Given the description of an element on the screen output the (x, y) to click on. 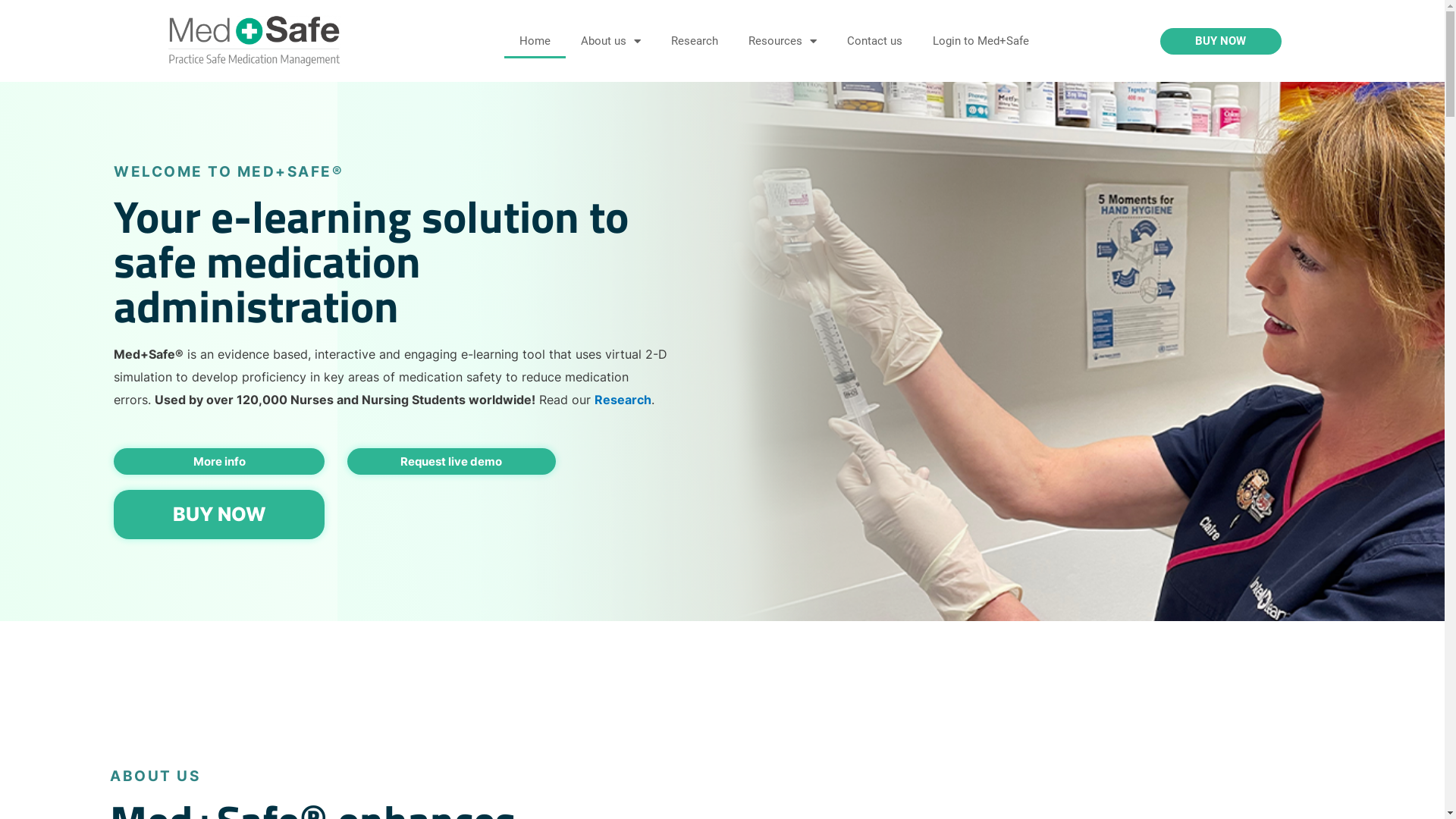
Login to Med+Safe Element type: text (980, 40)
About us Element type: text (610, 40)
Research Element type: text (622, 399)
Request live demo Element type: text (451, 461)
Contact us Element type: text (874, 40)
Research Element type: text (694, 40)
Home Element type: text (534, 40)
BUY NOW Element type: text (219, 514)
BUY NOW Element type: text (1220, 41)
More info Element type: text (219, 461)
Resources Element type: text (782, 40)
